Given the description of an element on the screen output the (x, y) to click on. 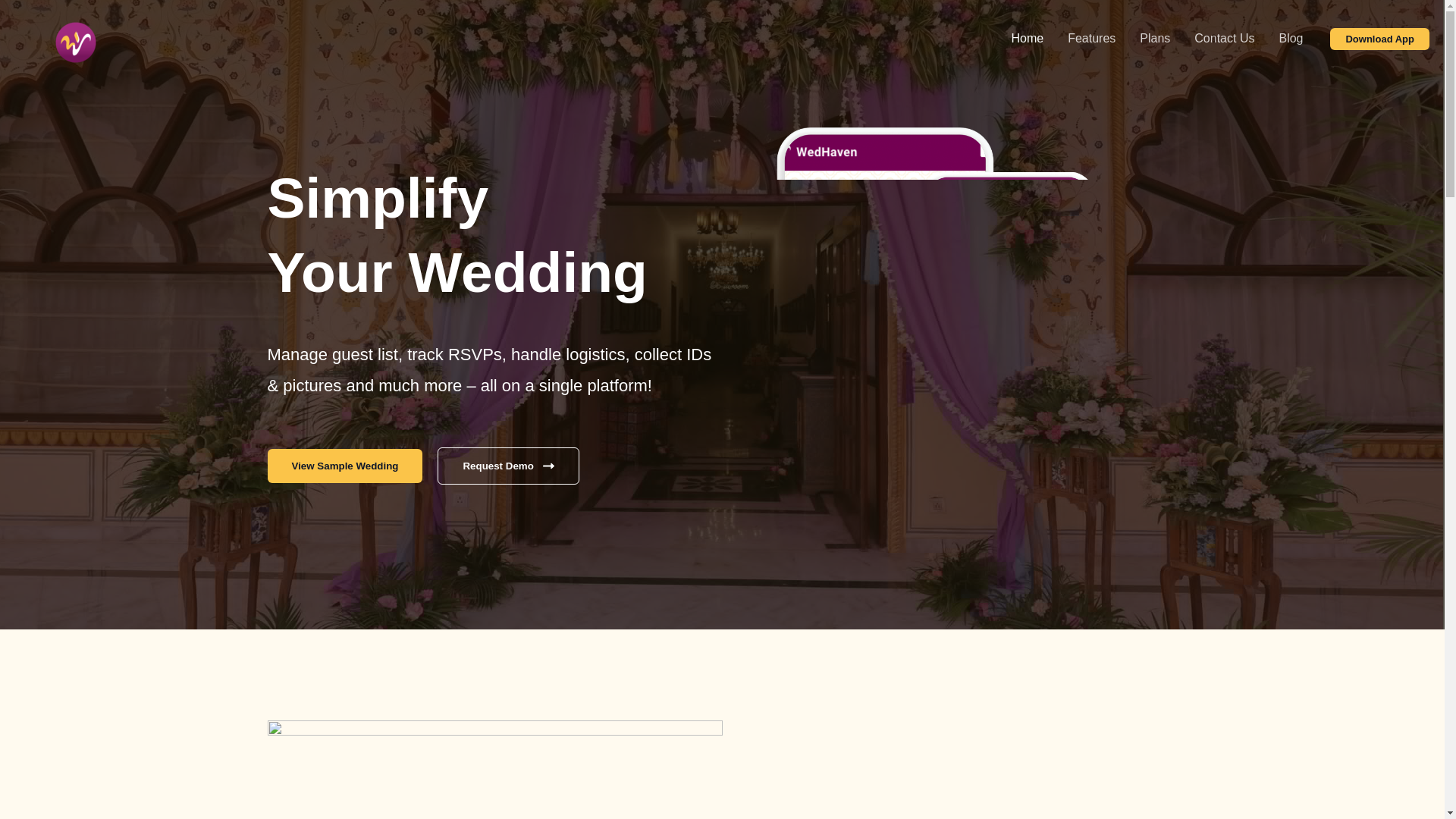
Plans (1154, 38)
Contact Us (1224, 38)
View Sample Wedding (344, 465)
Home (1026, 38)
2 (494, 769)
Features (1090, 38)
Blog (1290, 38)
Request Demo (508, 465)
Download App (1379, 38)
